Given the description of an element on the screen output the (x, y) to click on. 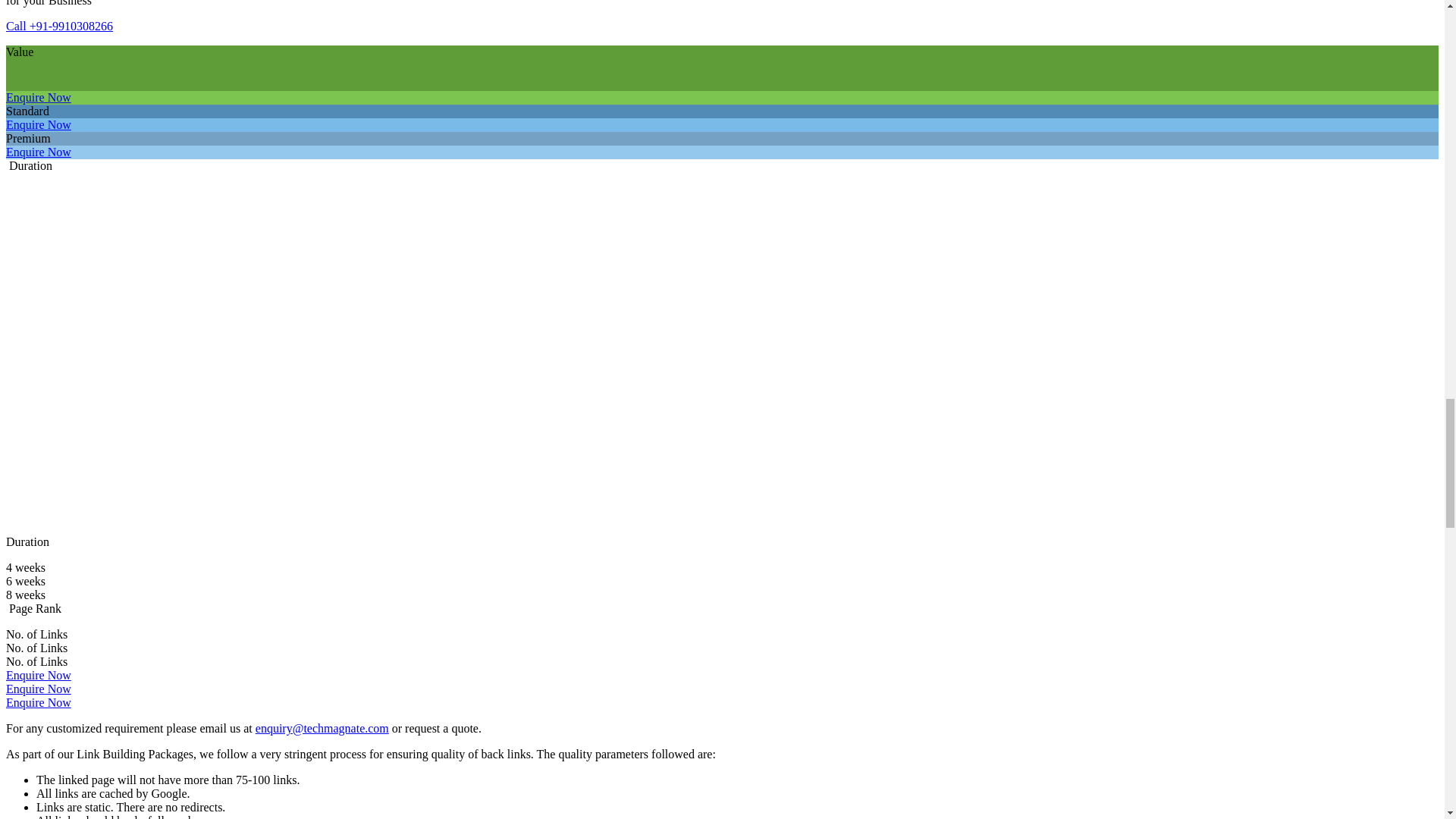
Enquire Now (38, 124)
Enquire Now (38, 675)
Enquire Now (38, 97)
Enquire Now (38, 688)
Enquire Now (38, 151)
Enquire Now (38, 702)
